Given the description of an element on the screen output the (x, y) to click on. 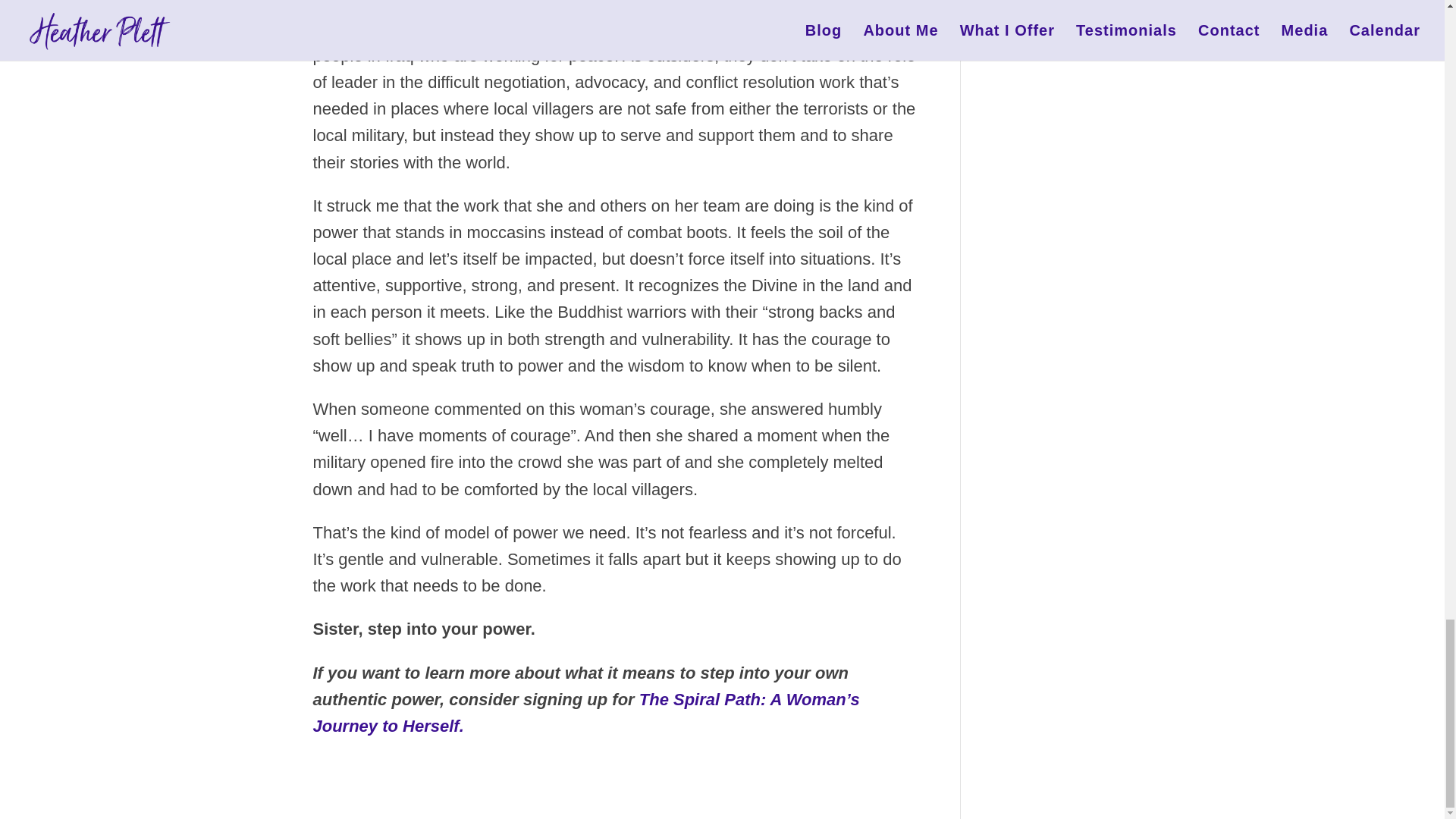
Christian Peacemaker Team (743, 5)
